Given the description of an element on the screen output the (x, y) to click on. 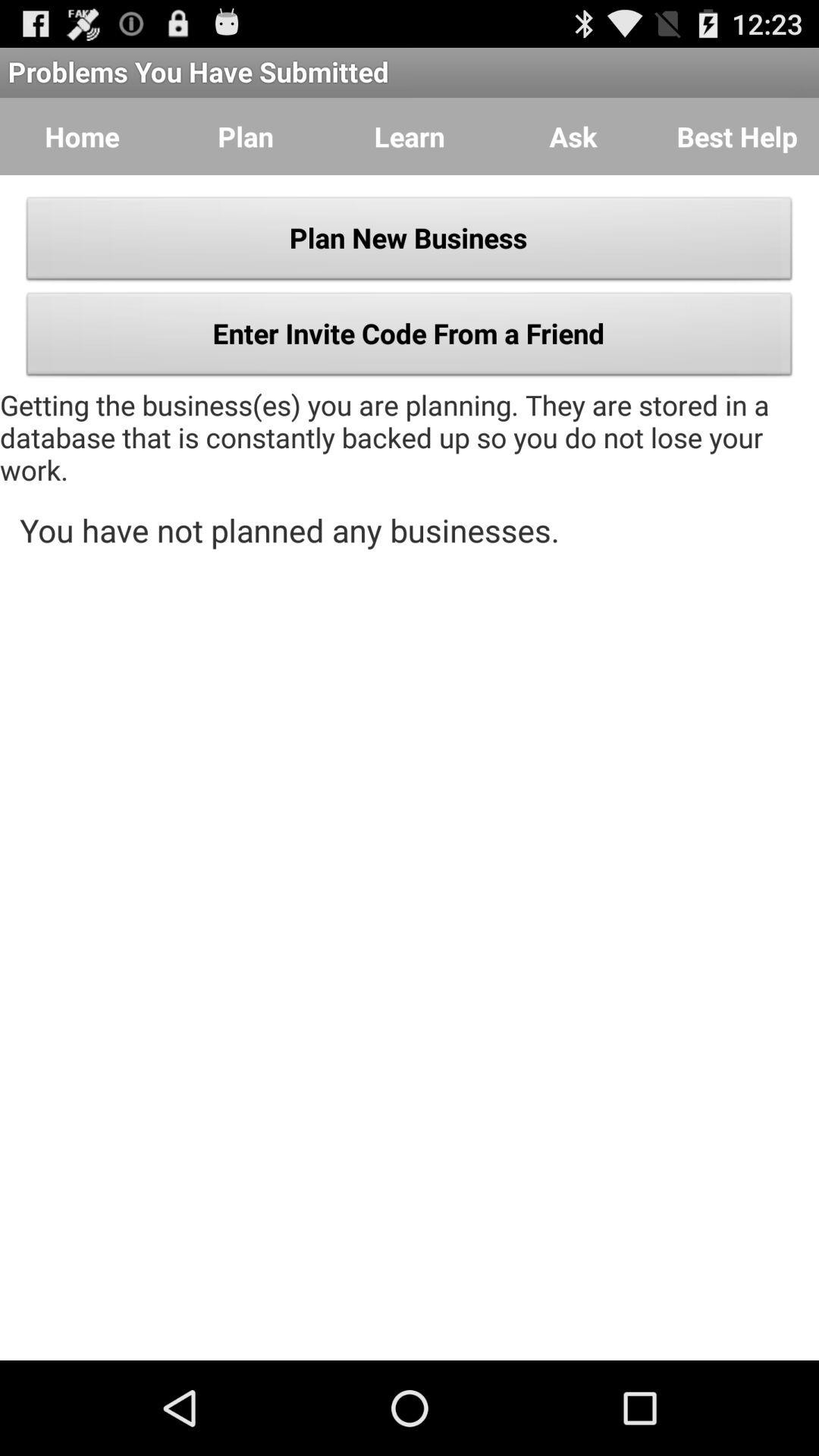
turn on the best help (737, 136)
